Given the description of an element on the screen output the (x, y) to click on. 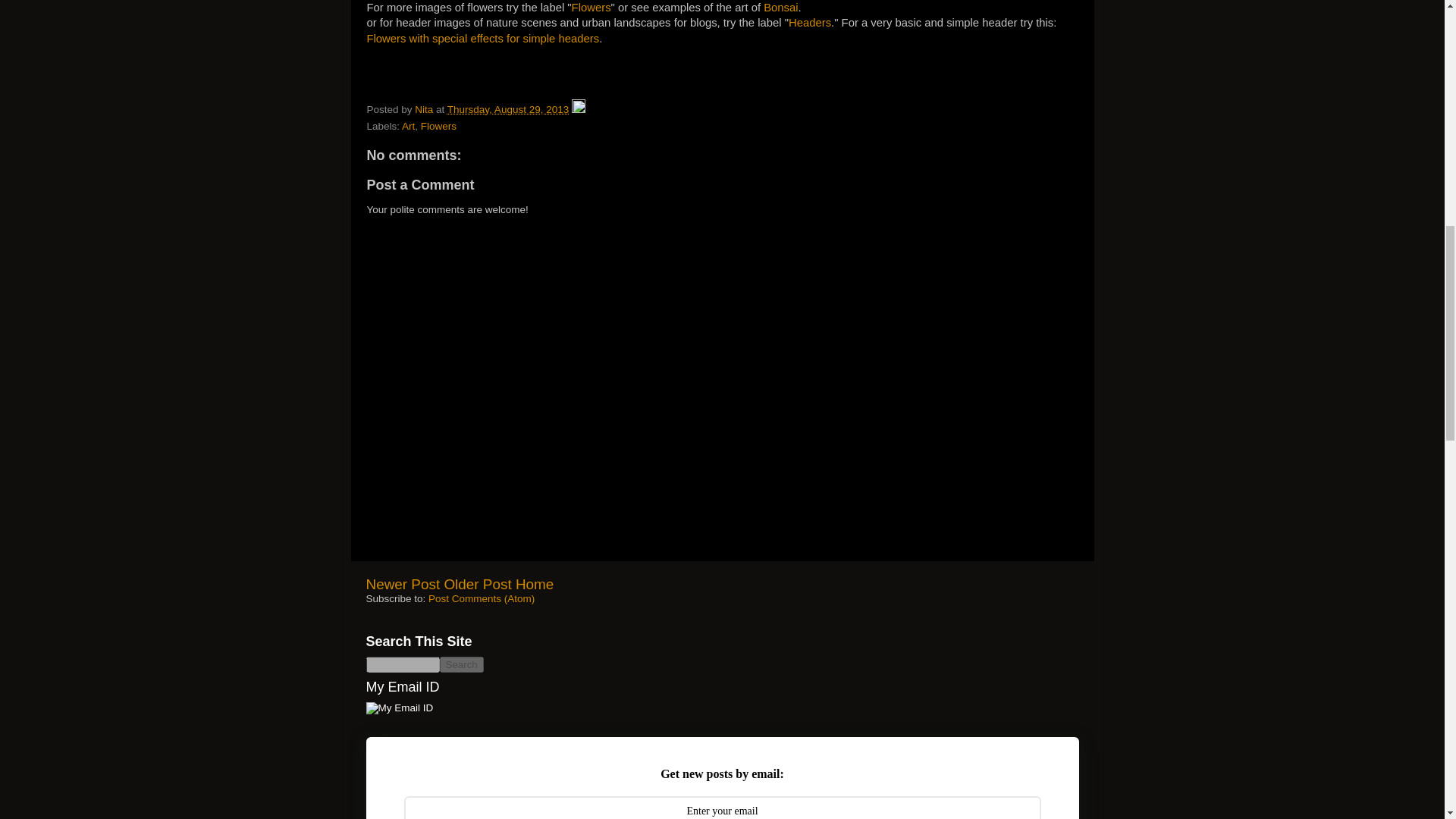
Flowers with special effects for simple headers (482, 38)
Older Post (477, 584)
search (402, 664)
Search (461, 664)
Flowers (591, 7)
Search (461, 664)
Thursday, August 29, 2013 (507, 109)
Nita (424, 109)
Search (461, 664)
Home (534, 584)
Older Post (477, 584)
Edit Post (578, 109)
Art (407, 125)
Newer Post (402, 584)
Headers (810, 22)
